Given the description of an element on the screen output the (x, y) to click on. 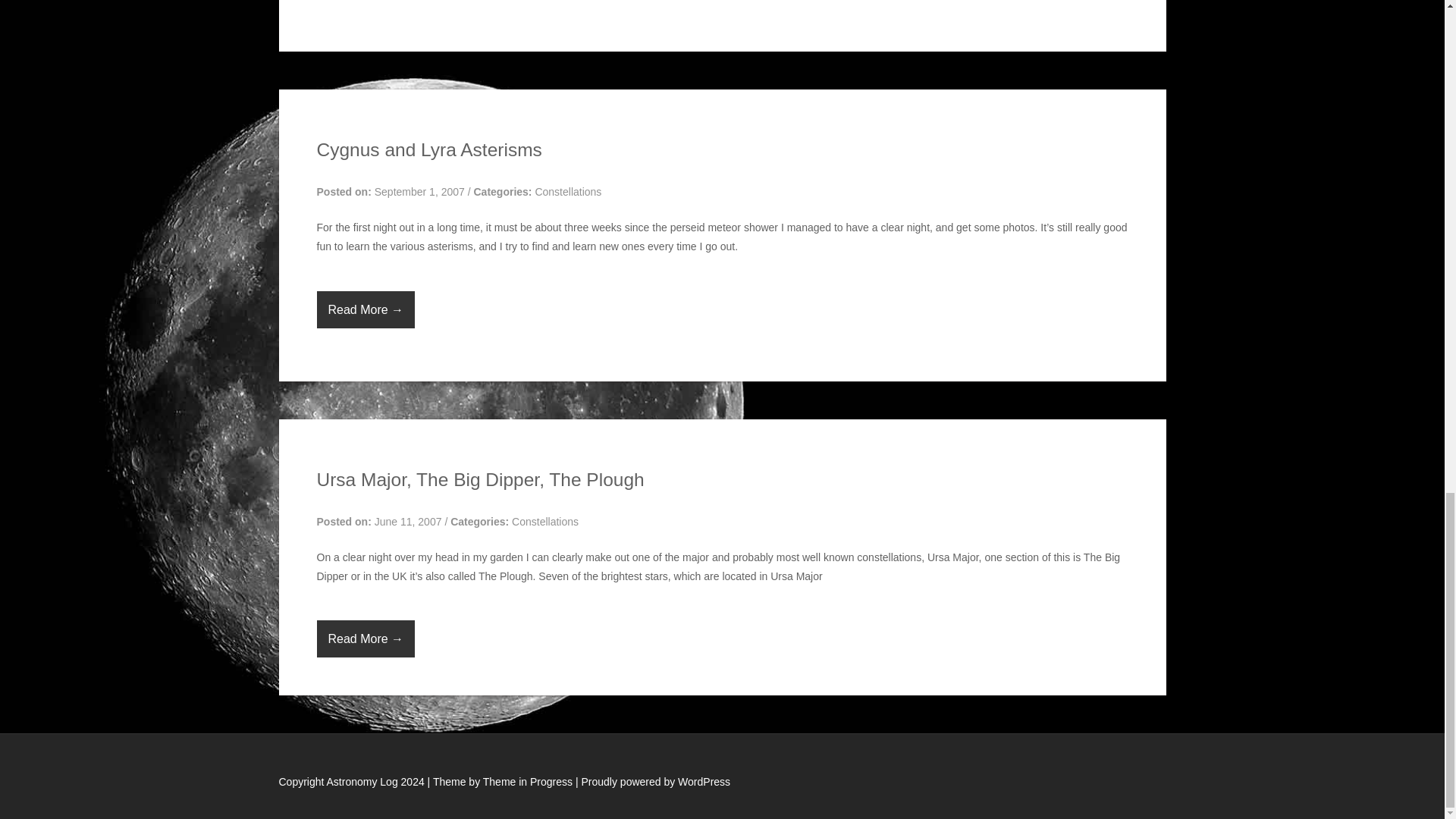
Constellations (545, 521)
Constellations (567, 191)
Ursa Major, The Big Dipper, The Plough (481, 479)
More (365, 309)
Cygnus and Lyra Asterisms (429, 149)
A Semantic Personal Publishing Platform (655, 781)
More (365, 638)
Proudly powered by WordPress (655, 781)
Theme in Progress (527, 781)
